Given the description of an element on the screen output the (x, y) to click on. 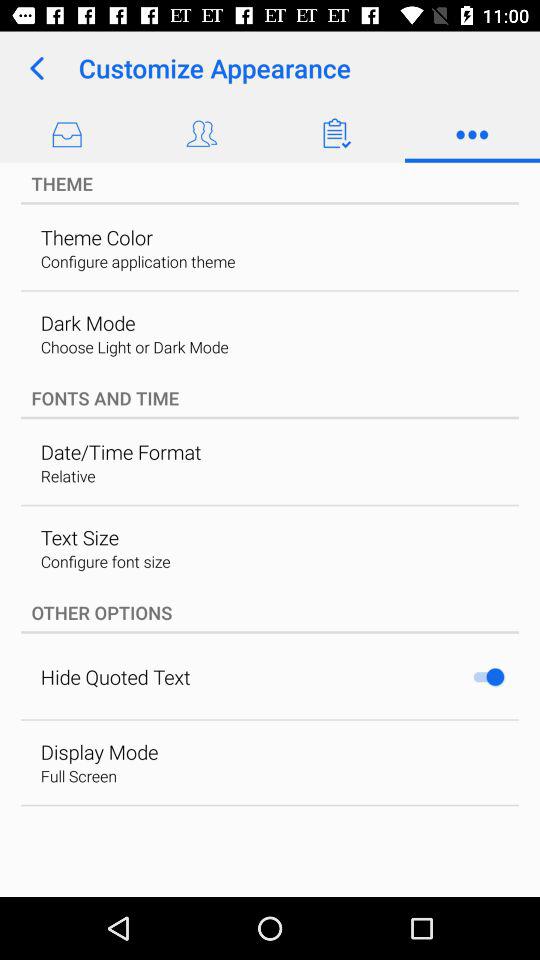
click the app below the date/time format app (67, 475)
